Given the description of an element on the screen output the (x, y) to click on. 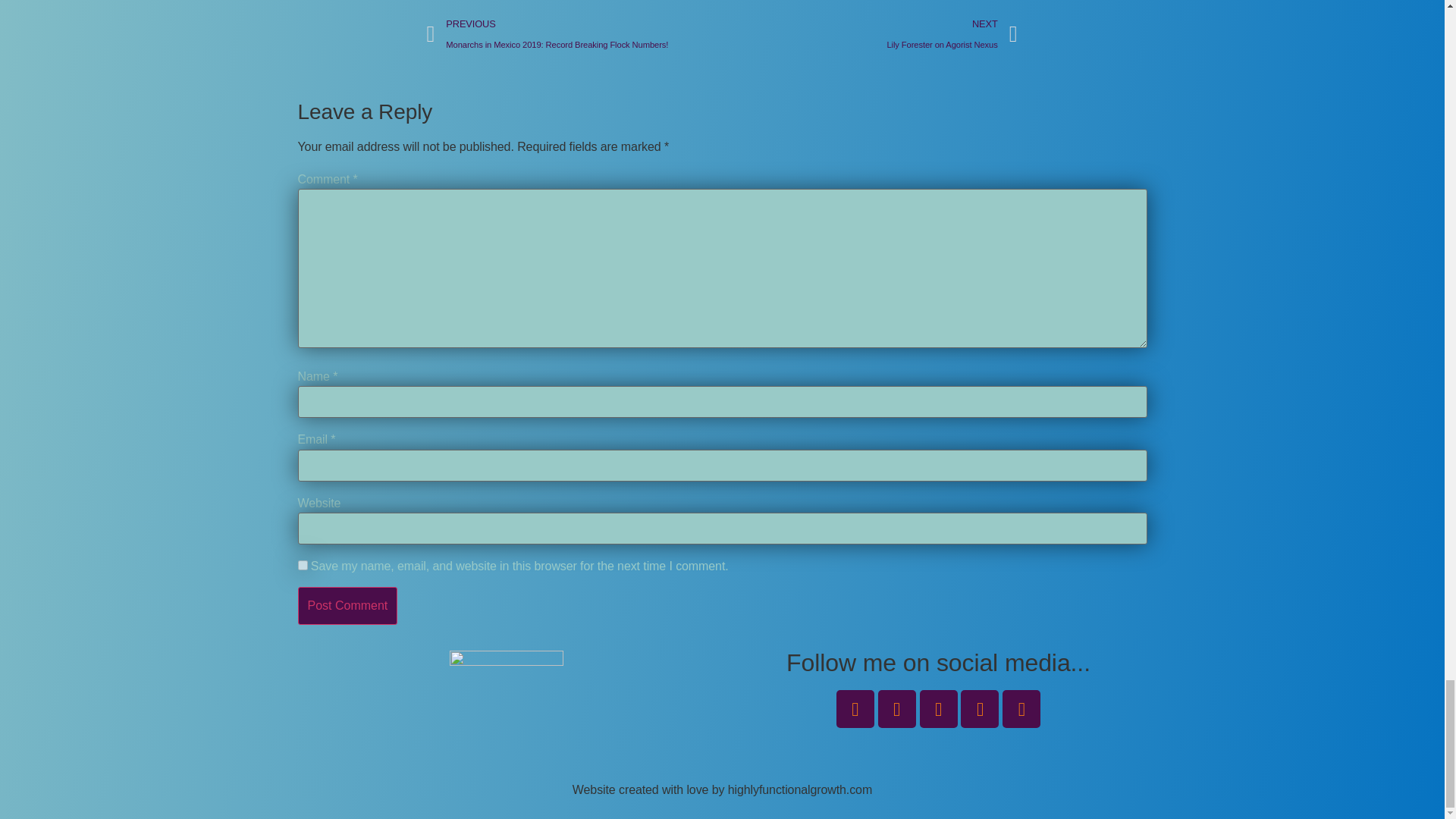
yes (302, 565)
Post Comment (347, 605)
